Given the description of an element on the screen output the (x, y) to click on. 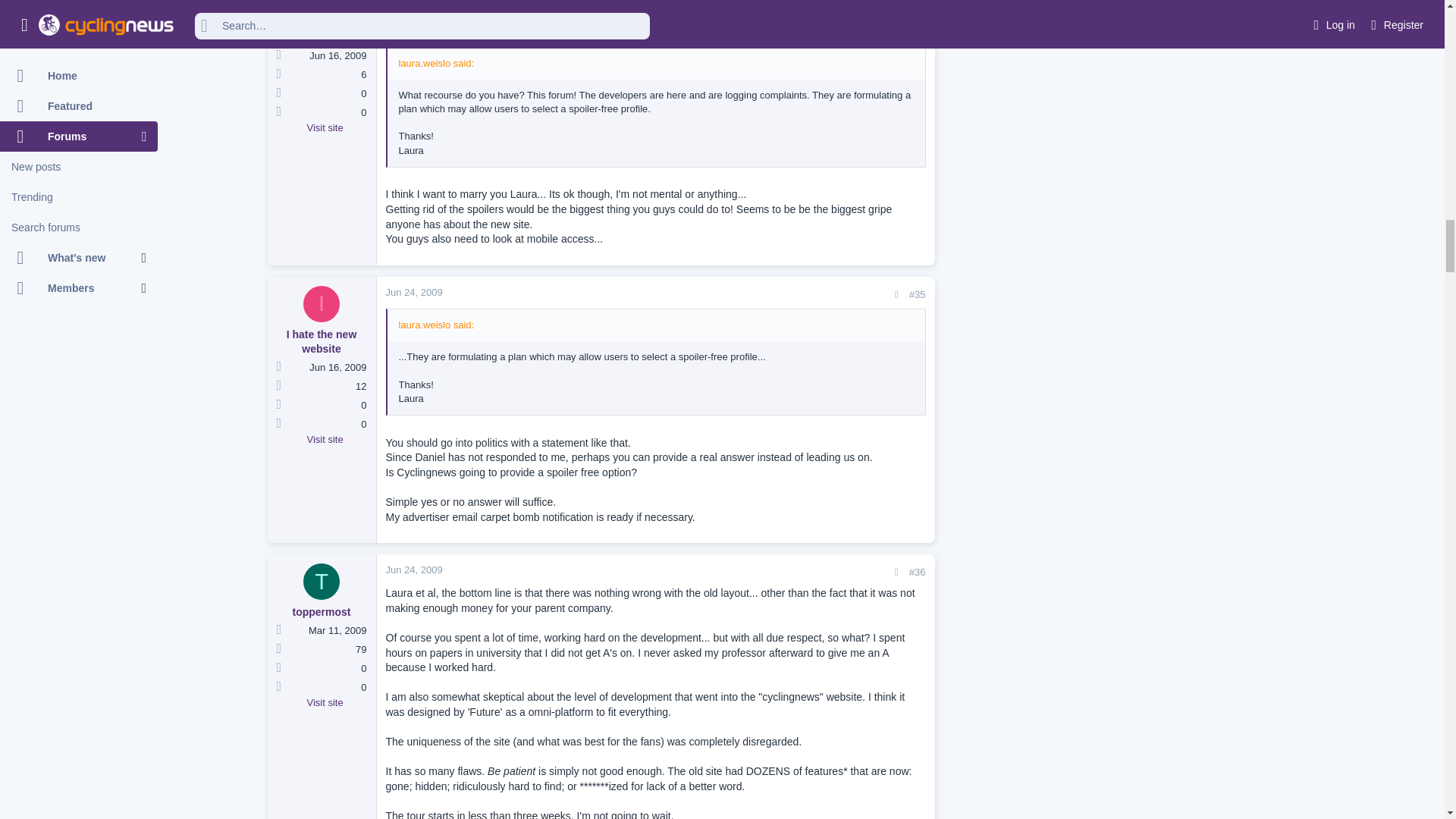
Jun 24, 2009 at 3:05 AM (413, 0)
